Given the description of an element on the screen output the (x, y) to click on. 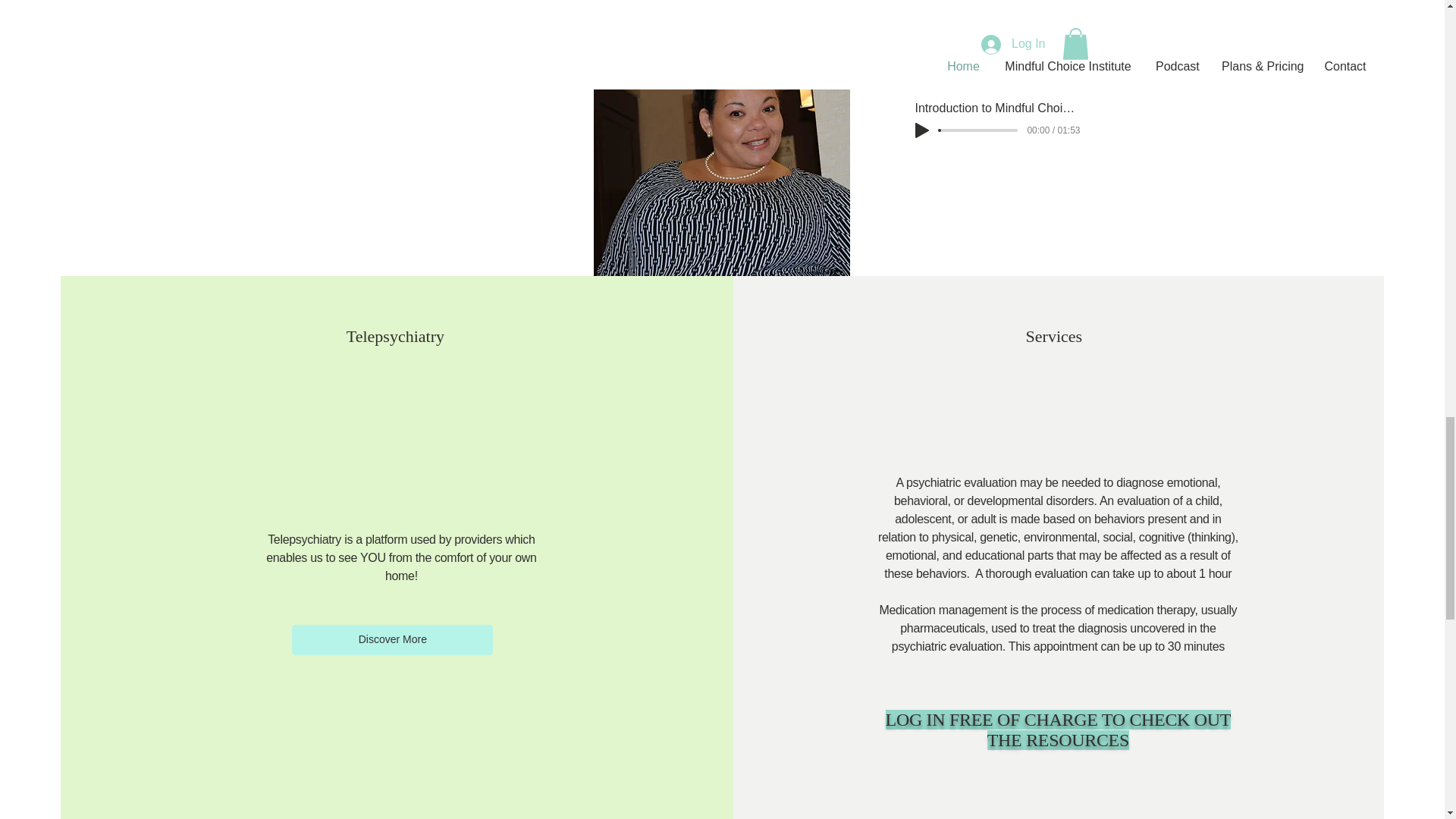
0 (978, 130)
Discover More (392, 639)
